Given the description of an element on the screen output the (x, y) to click on. 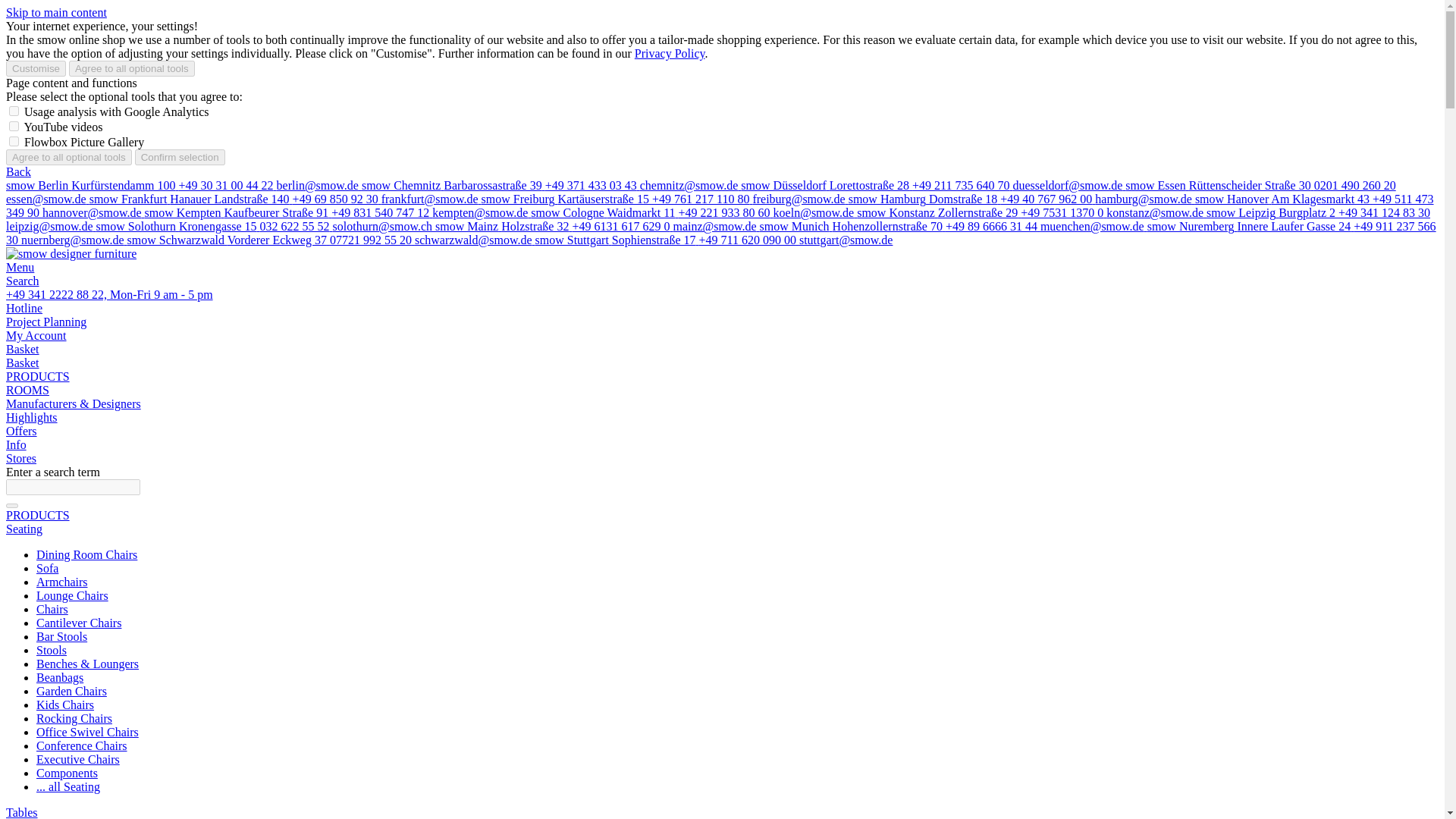
Offers (21, 431)
Agree to all optional tools (131, 68)
checked (13, 111)
Privacy Policy (669, 52)
Back to homepage - smow online shop (70, 253)
Highlights (31, 417)
Back (17, 171)
PRODUCTS (37, 376)
Customise (35, 68)
checked (13, 126)
